Given the description of an element on the screen output the (x, y) to click on. 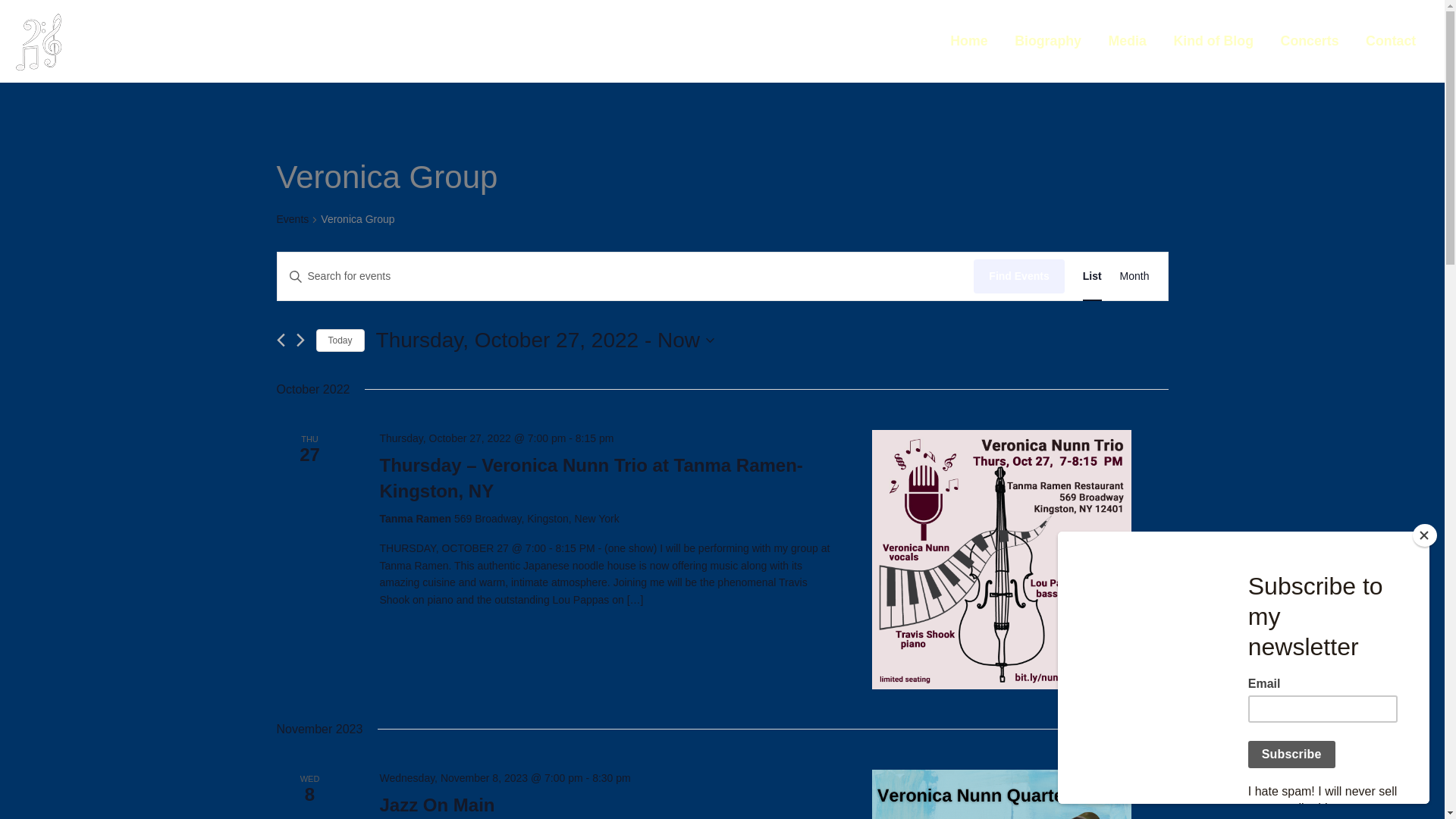
Kind of Blog (1213, 41)
Media (1127, 41)
Biography (1047, 41)
Jazz On Main (1001, 794)
Previous Events (279, 339)
Next Events (299, 339)
Click to select today's date (339, 340)
Veronica Nunn (156, 40)
Jazz On Main (436, 804)
List (1092, 276)
Events (292, 220)
Home (968, 41)
Find Events (1019, 276)
Concerts (1309, 41)
Click to toggle datepicker (544, 340)
